Given the description of an element on the screen output the (x, y) to click on. 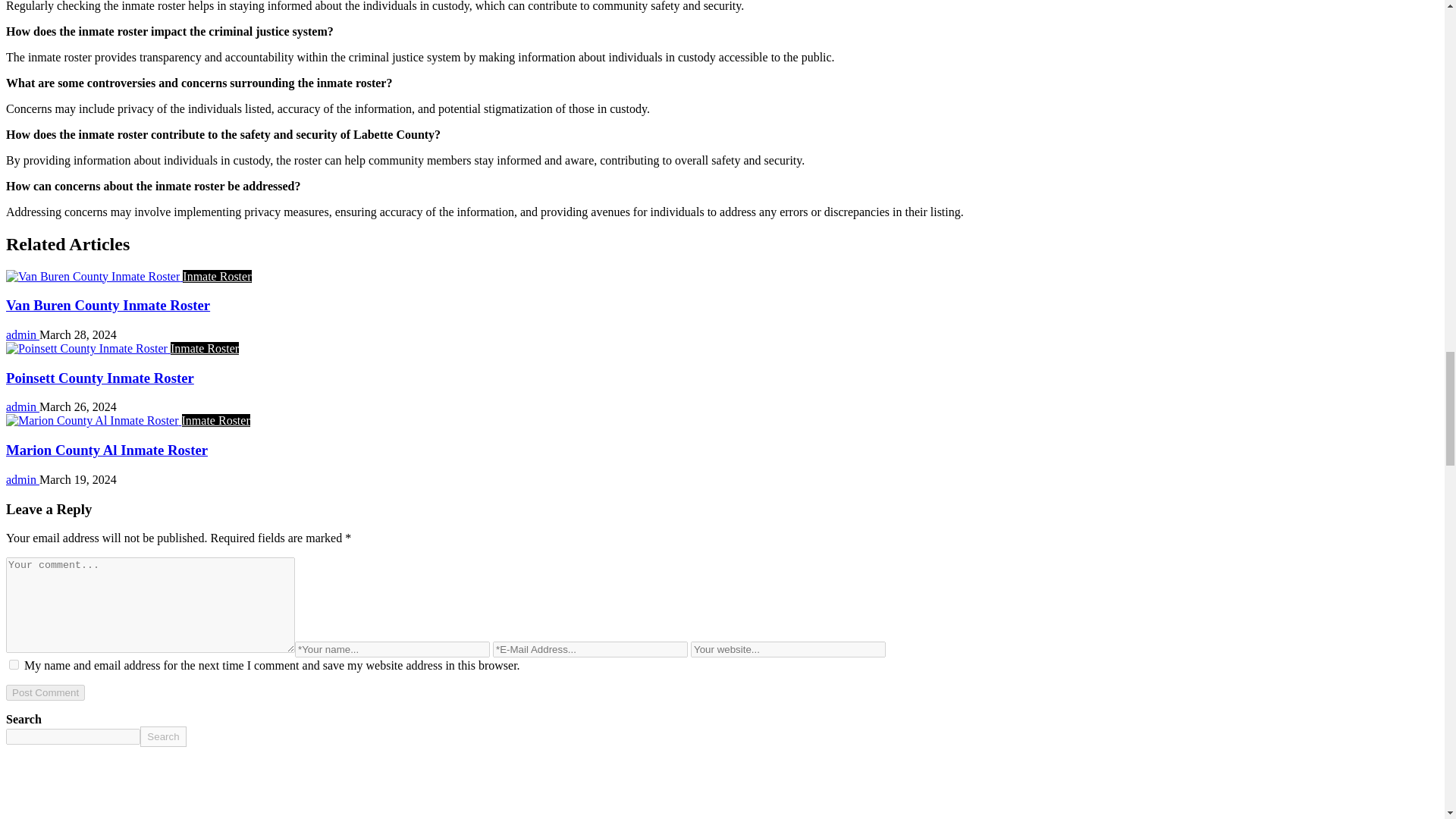
yes (13, 664)
Post Comment (44, 692)
